Given the description of an element on the screen output the (x, y) to click on. 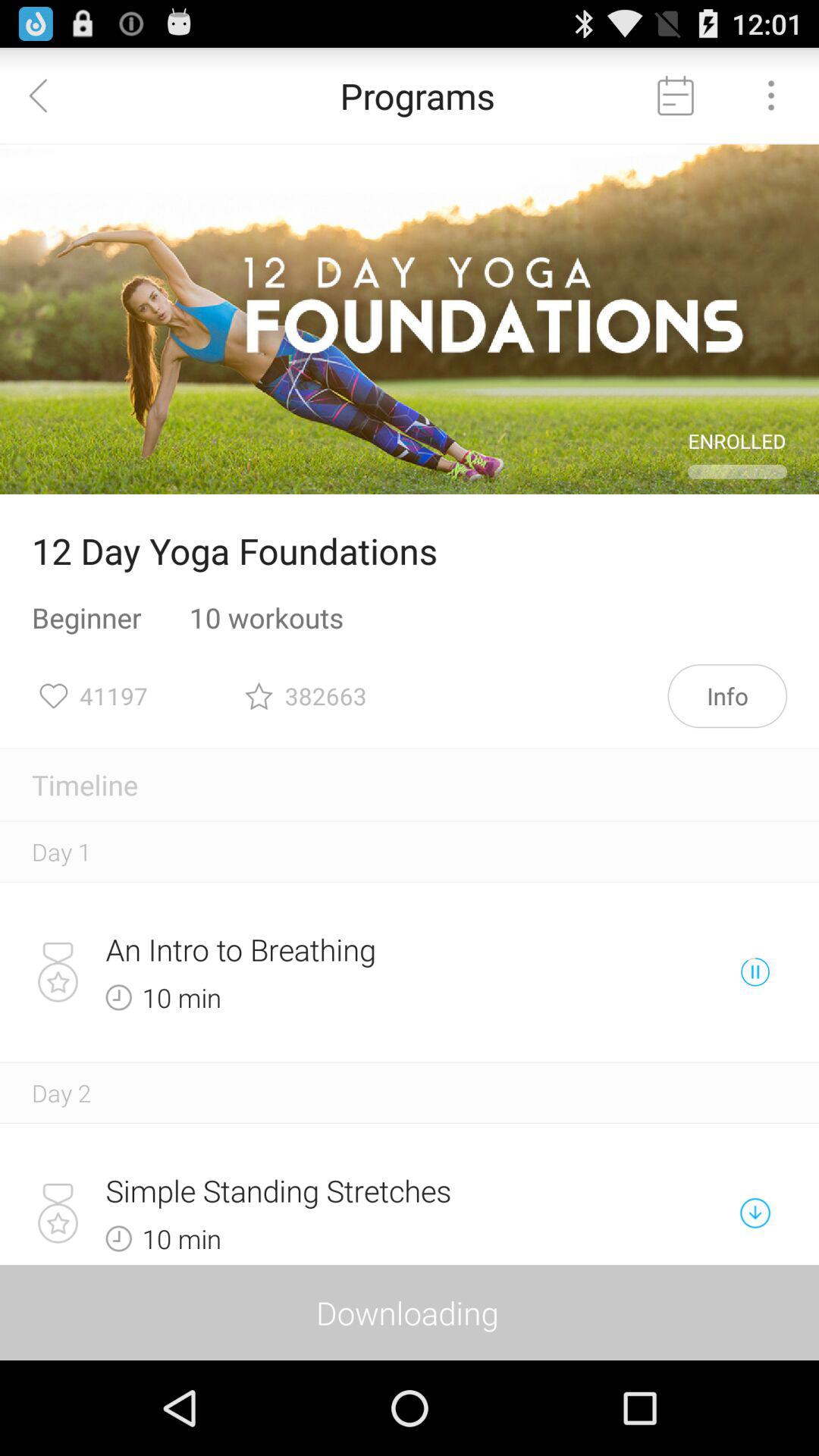
opens options menu (771, 95)
